Given the description of an element on the screen output the (x, y) to click on. 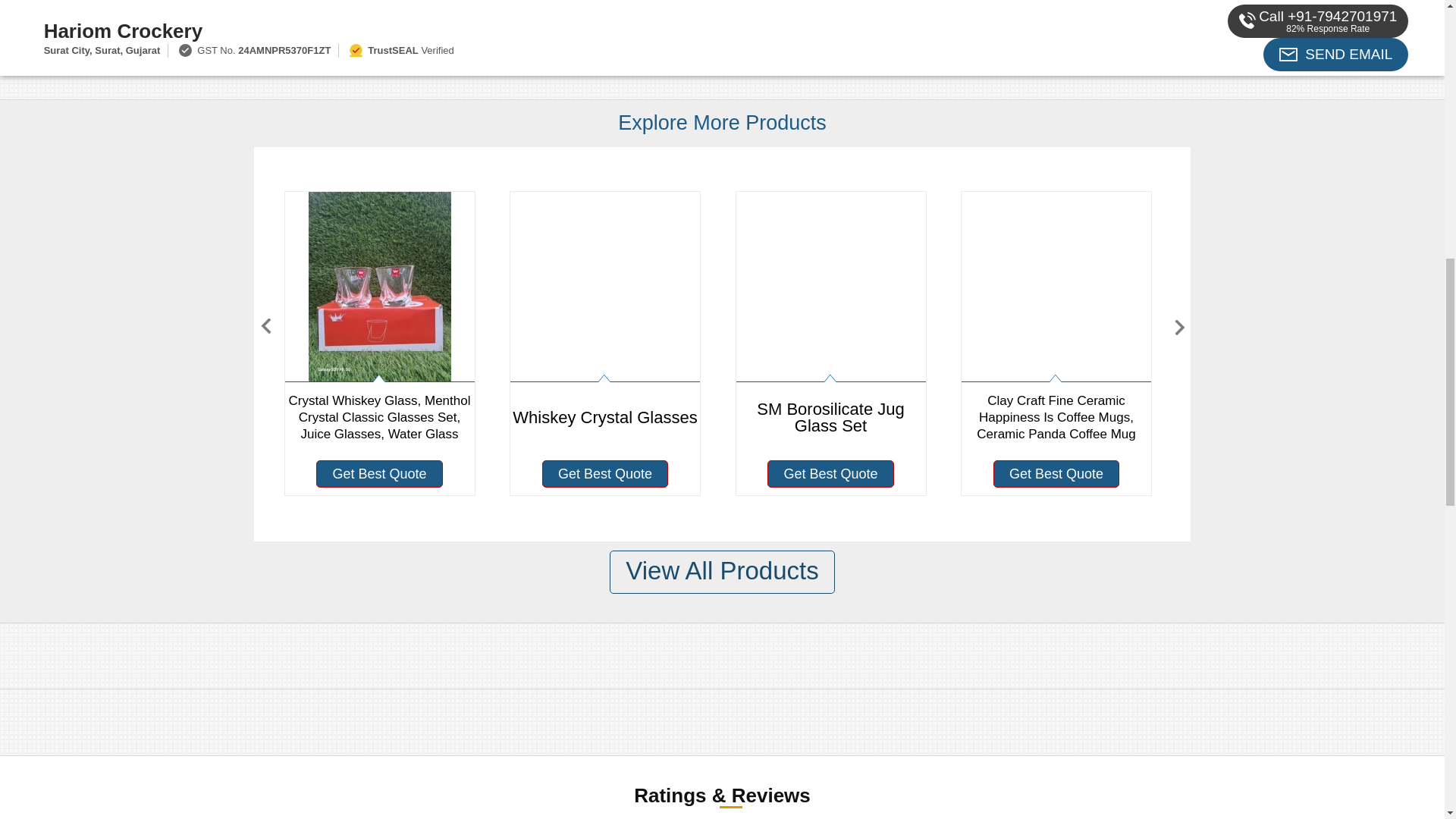
View All Products (722, 571)
